Given the description of an element on the screen output the (x, y) to click on. 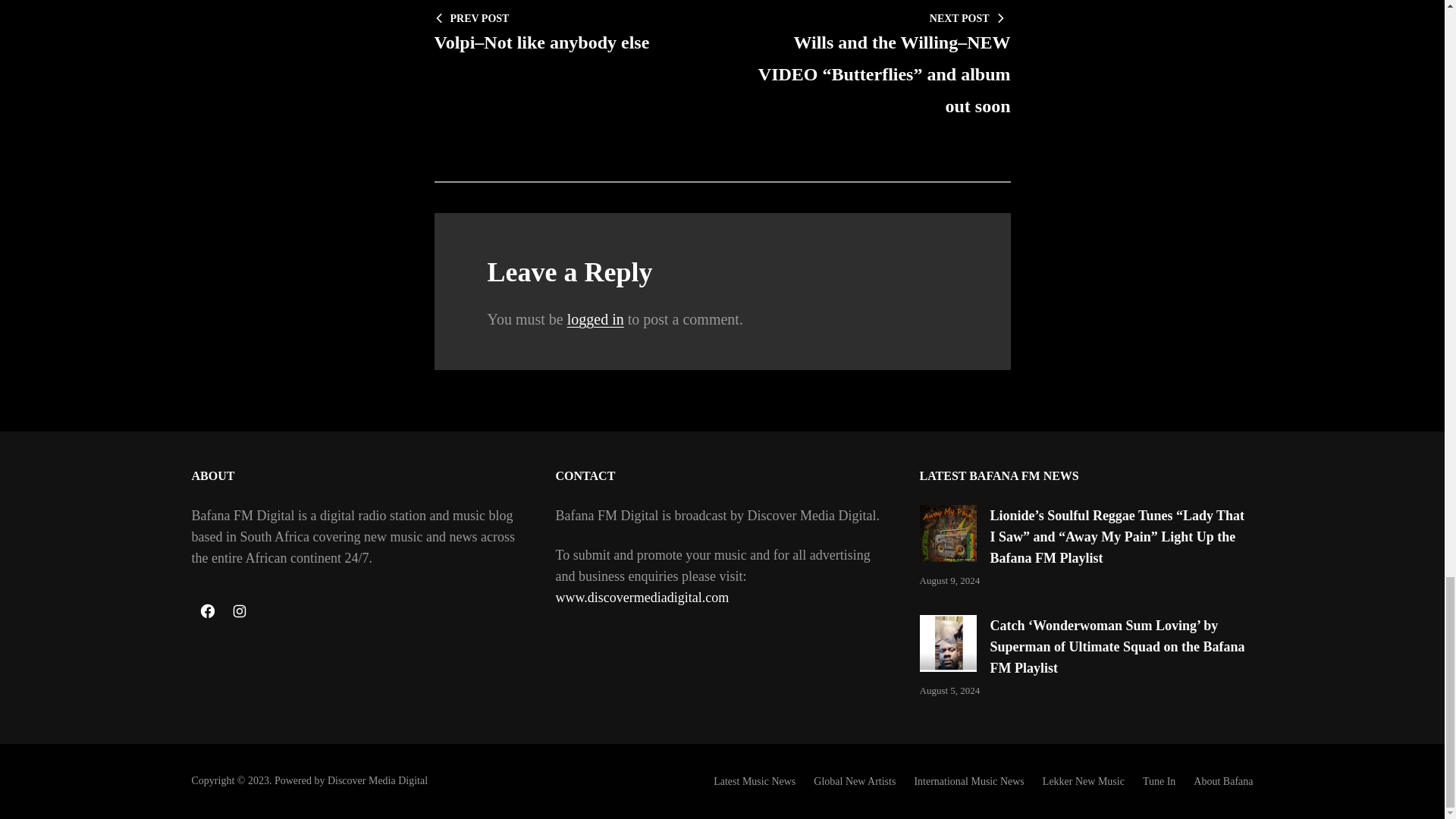
Latest Music News (753, 780)
Discover Media Digital (377, 780)
Lekker New Music (1083, 780)
Instagram (238, 611)
International Music News (968, 780)
Tune In (1158, 780)
About Bafana (1222, 780)
www.discovermediadigital.com (641, 597)
Global New Artists (854, 780)
logged in (595, 319)
